Given the description of an element on the screen output the (x, y) to click on. 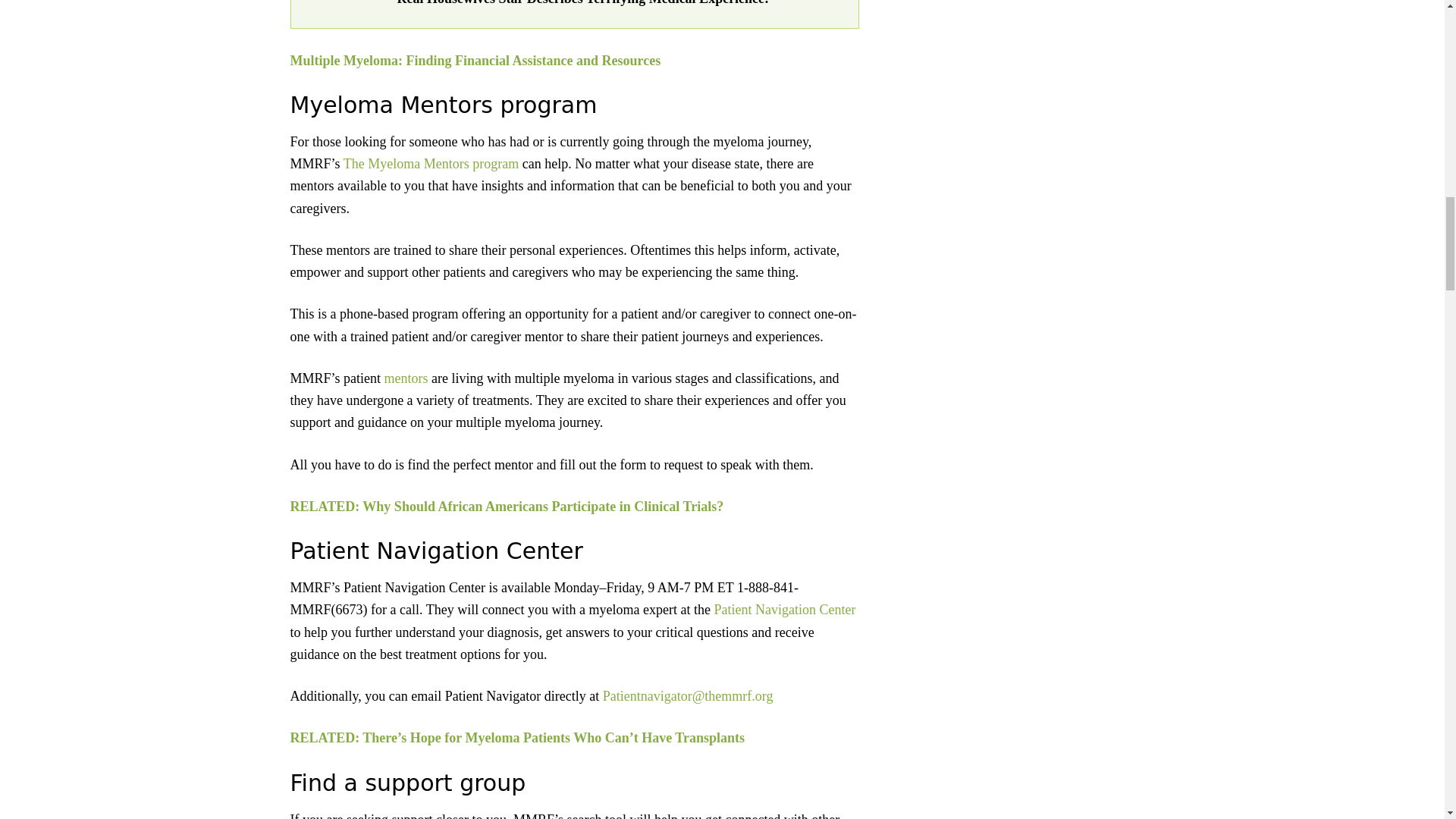
mentors (404, 378)
The Myeloma Mentors program (430, 163)
Patient Navigation Center (783, 609)
Multiple Myeloma: Finding Financial Assistance and Resources (475, 60)
